Given the description of an element on the screen output the (x, y) to click on. 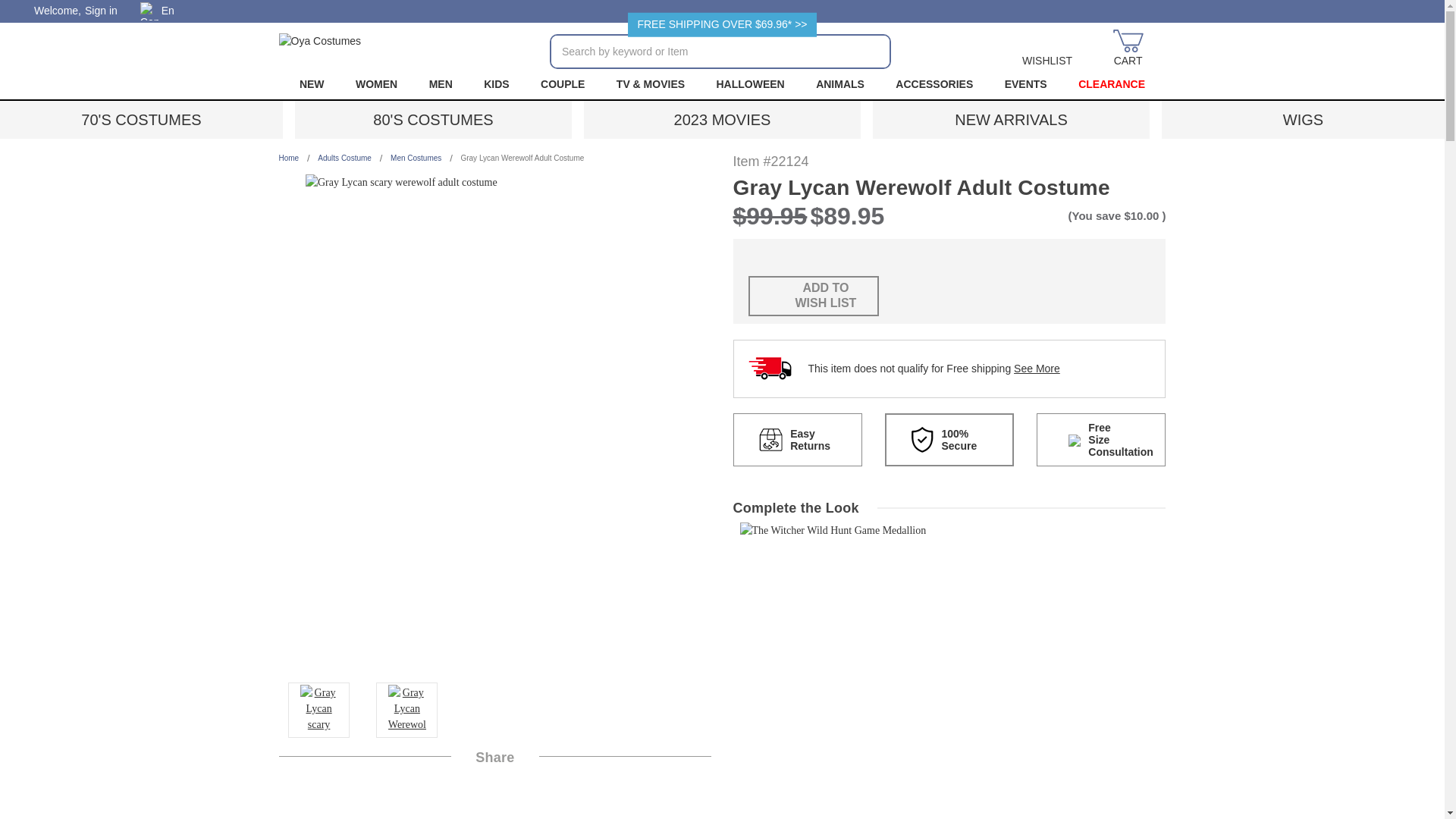
WISHLIST (1047, 48)
Wishlist (1047, 48)
Oya Costumes (320, 48)
En (162, 11)
WOMEN (376, 83)
CART (1128, 48)
NEW (311, 83)
Sign in (100, 10)
